Given the description of an element on the screen output the (x, y) to click on. 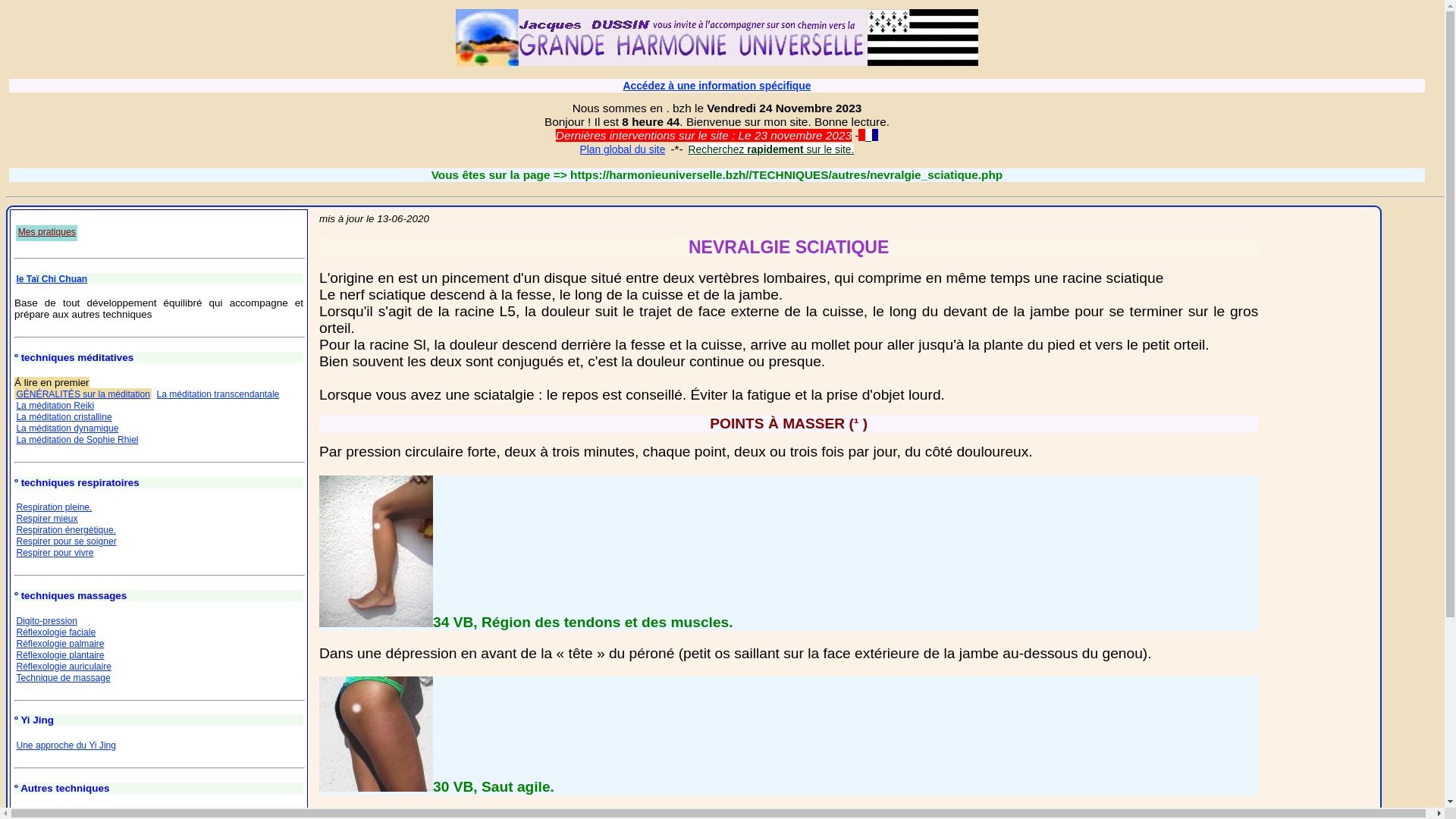
Respirer pour se soigner Element type: text (65, 541)
Mes pratiques Element type: text (46, 233)
Respirer mieux Element type: text (46, 518)
Technique de massage Element type: text (62, 677)
Grande Harmonie Universelle Element type: hover (716, 37)
Digito-pression Element type: text (46, 620)
Une approche du Yi Jing Element type: text (65, 745)
Recherchez rapidement sur le site. Element type: text (771, 149)
Respiration pleine. Element type: text (53, 507)
Plan global du site Element type: text (622, 149)
Respirer pour vivre Element type: text (54, 552)
